Given the description of an element on the screen output the (x, y) to click on. 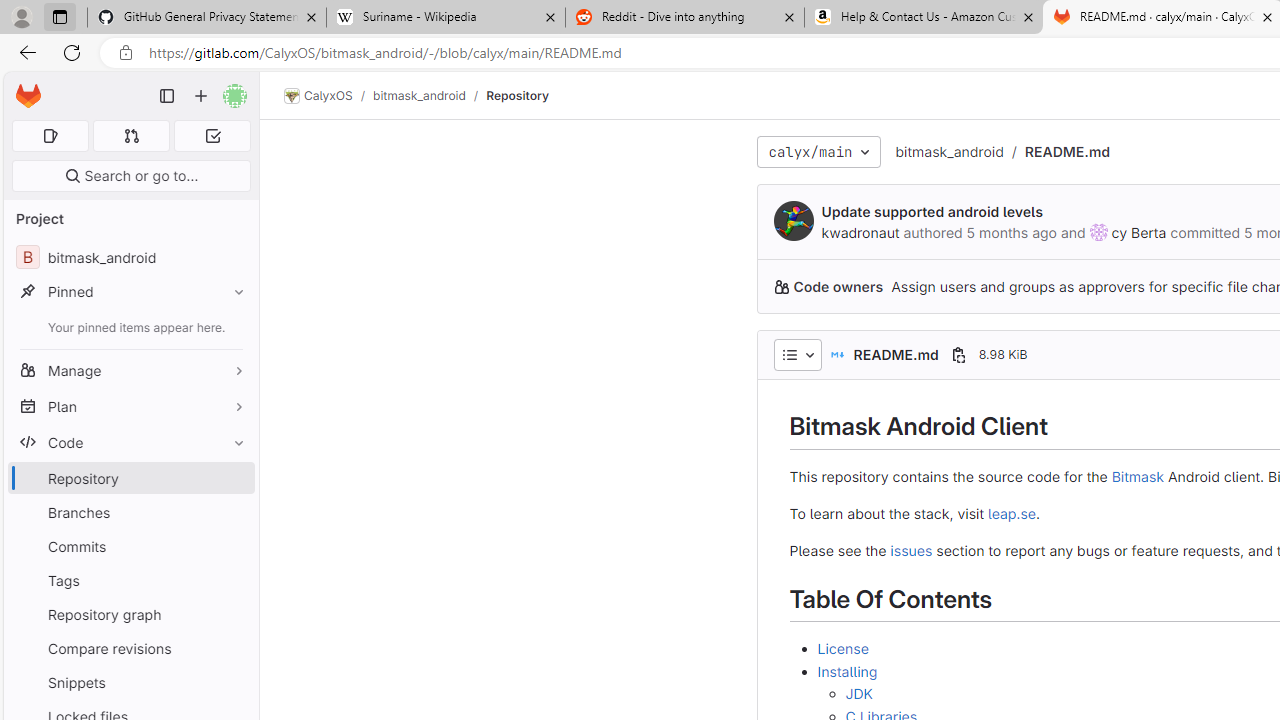
/README.md (1057, 151)
cy Berta (1139, 232)
Repository graph (130, 614)
GitHub General Privacy Statement - GitHub Docs (207, 17)
To-Do list 0 (212, 136)
Bbitmask_android (130, 257)
CalyxOS (318, 96)
Compare revisions (130, 648)
Code (130, 442)
Pin Compare revisions (234, 647)
